Given the description of an element on the screen output the (x, y) to click on. 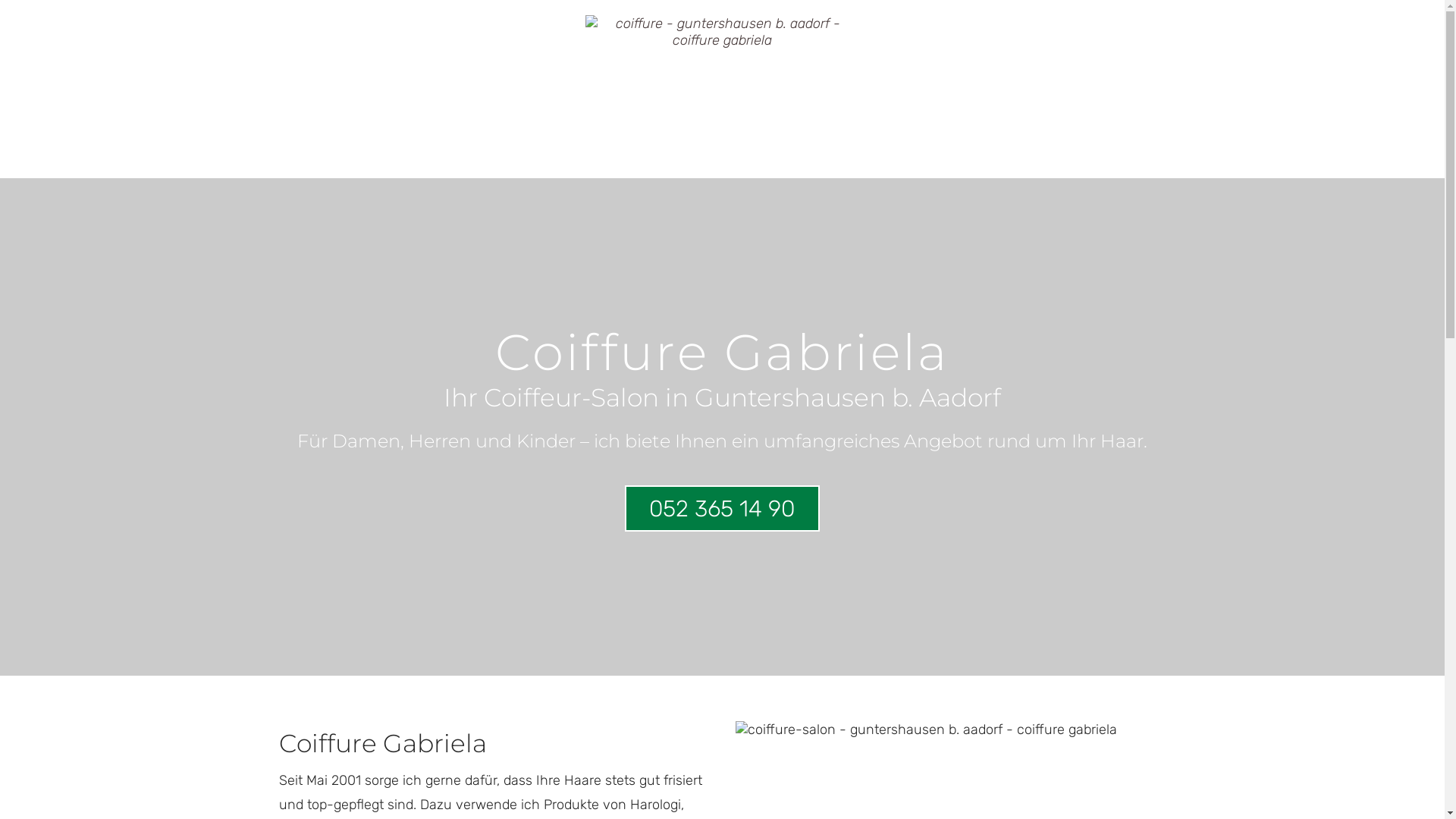
052 365 14 90 Element type: text (721, 508)
